Given the description of an element on the screen output the (x, y) to click on. 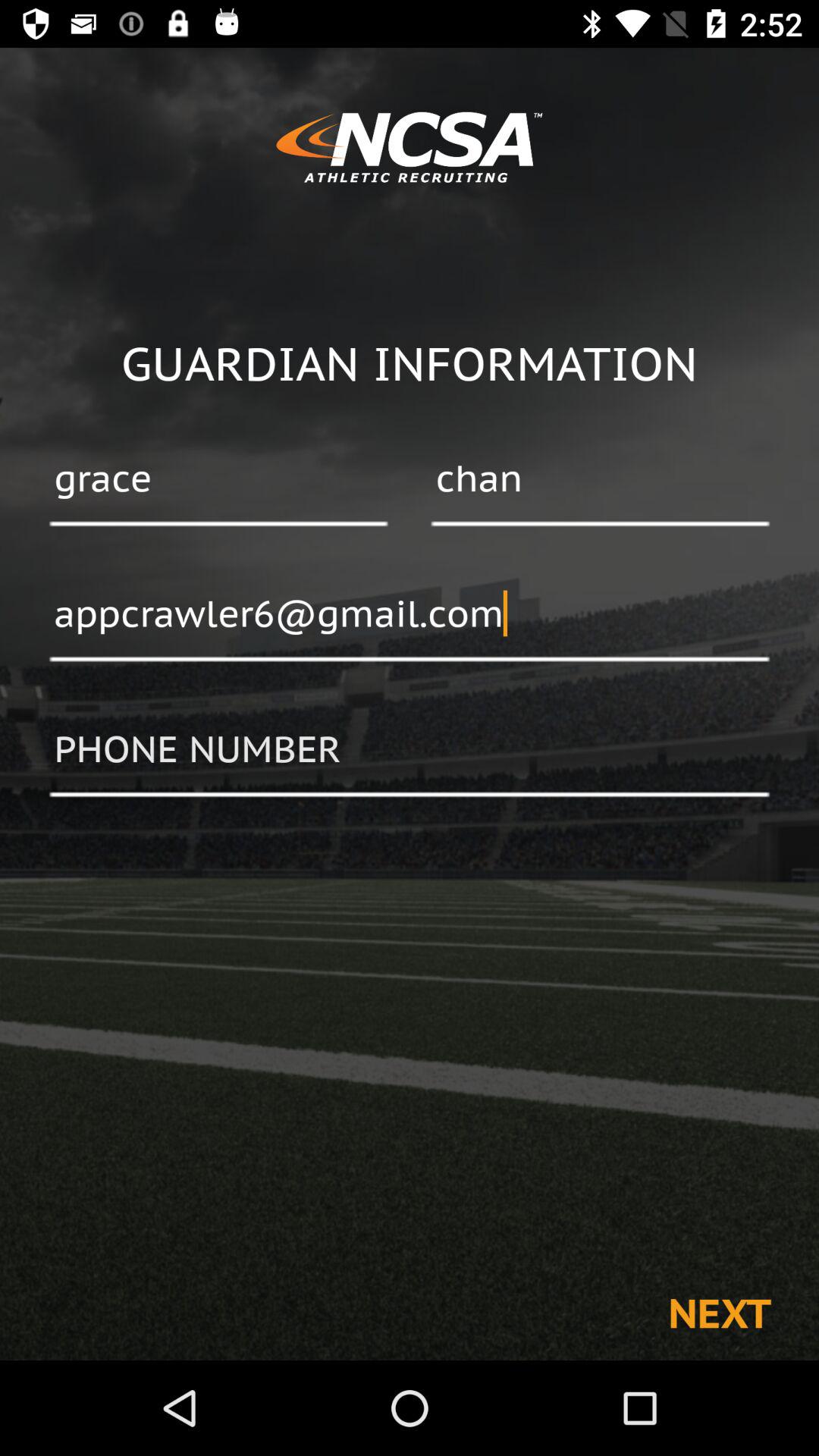
press item next to the chan icon (218, 479)
